Given the description of an element on the screen output the (x, y) to click on. 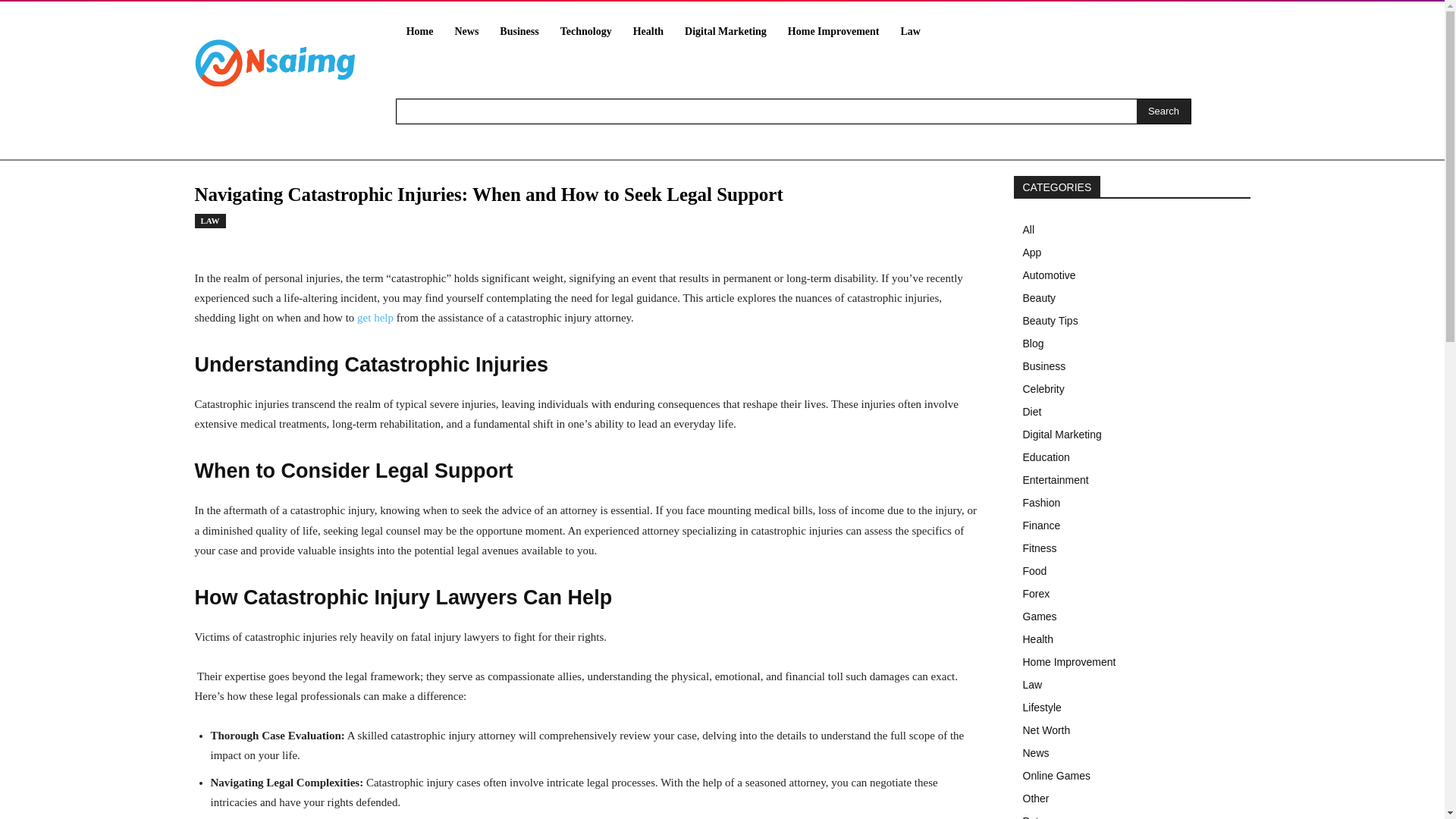
Celebrity (1131, 388)
Technology (586, 31)
Education (1131, 456)
LAW (209, 220)
Digital Marketing (725, 31)
Automotive (1131, 274)
Digital Marketing (1131, 434)
Search (1164, 111)
Fashion (1131, 502)
Business (518, 31)
